Given the description of an element on the screen output the (x, y) to click on. 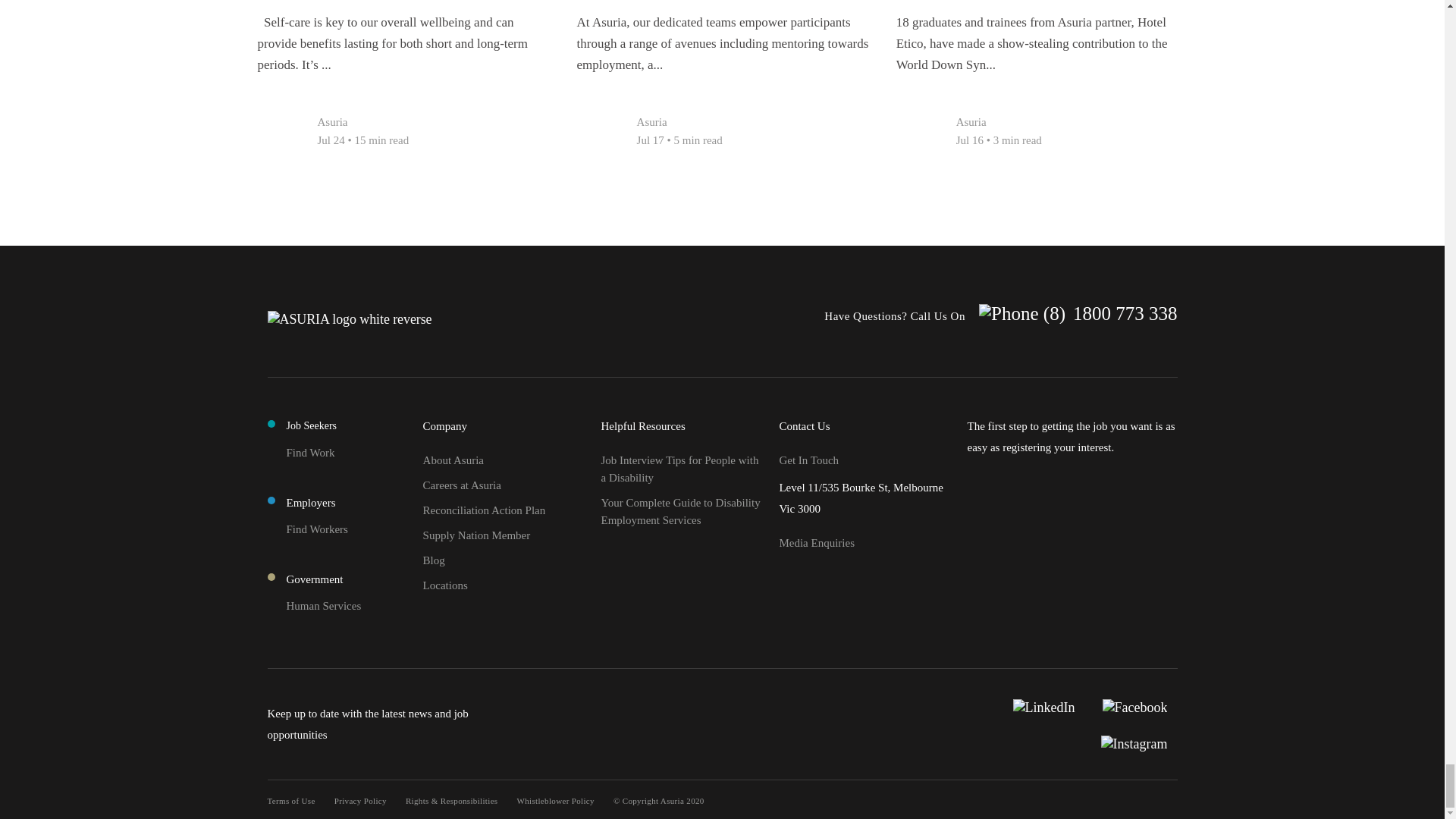
ASURIA logo white reverse (348, 318)
